Given the description of an element on the screen output the (x, y) to click on. 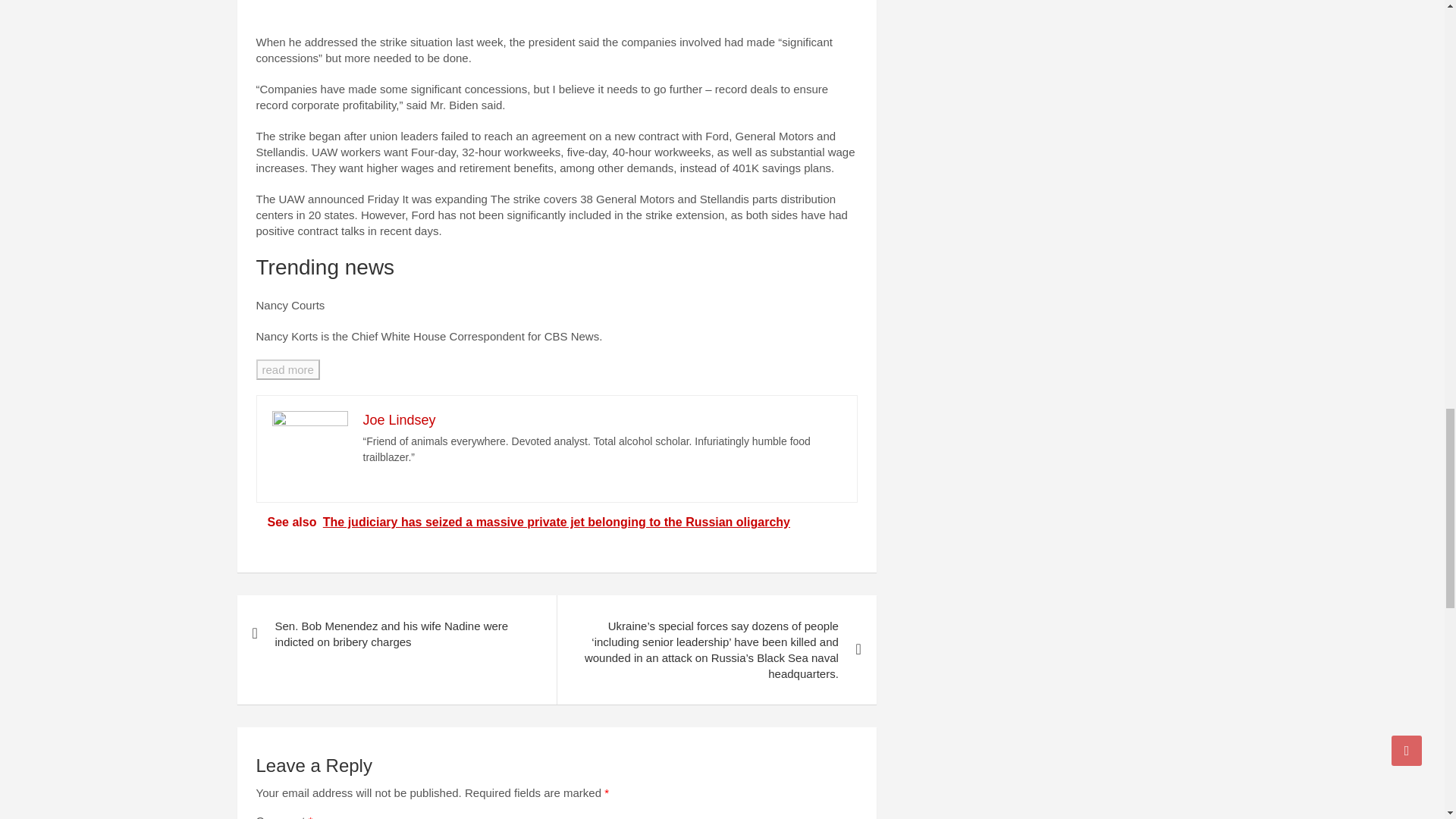
Joe Lindsey (398, 419)
read more (288, 369)
